Given the description of an element on the screen output the (x, y) to click on. 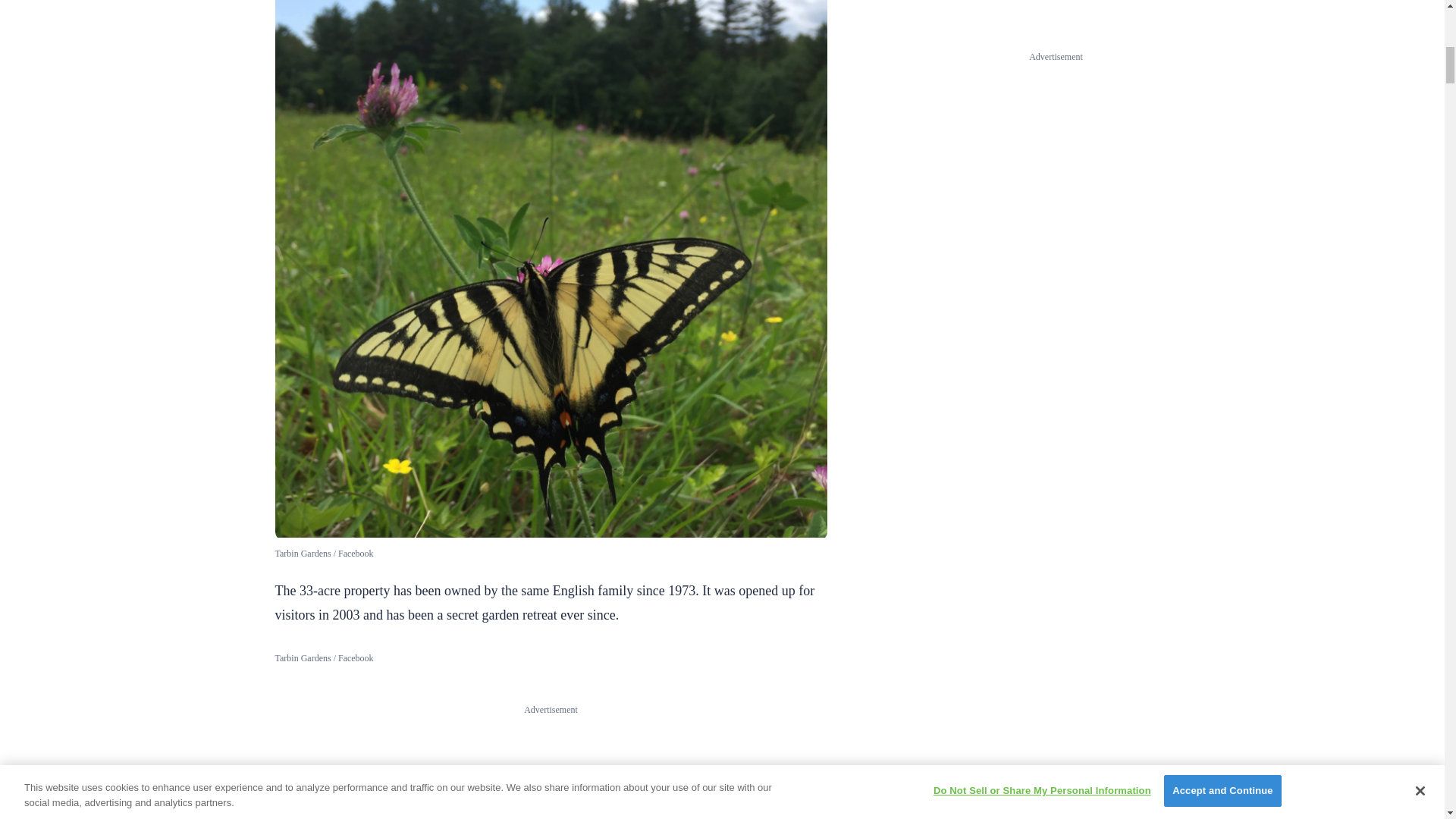
3rd party ad content (549, 767)
